Given the description of an element on the screen output the (x, y) to click on. 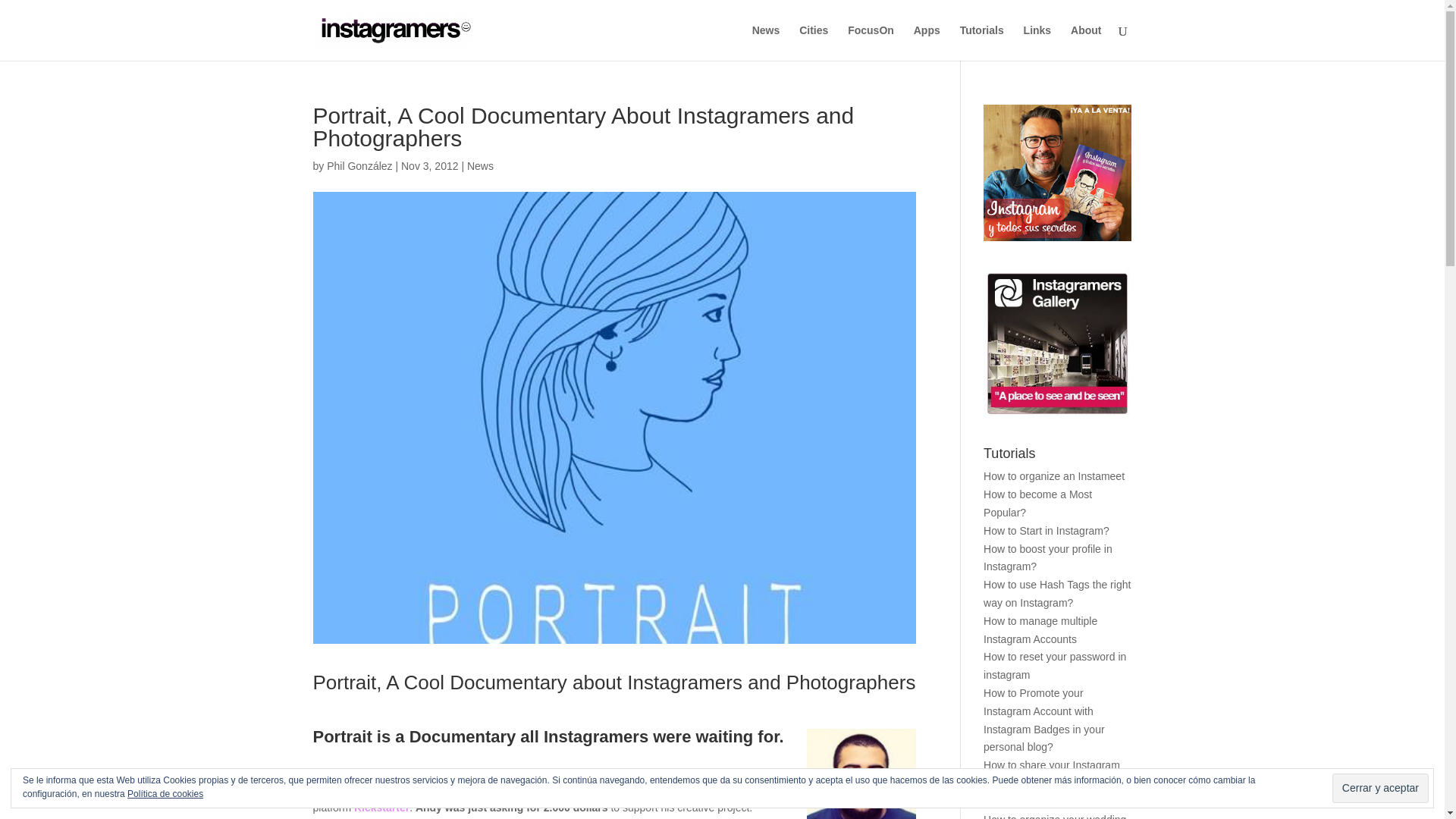
How to share your Instagram Pics on Twitter (1051, 774)
How to organize your wedding on Instagram? (1054, 816)
Portrait Video Project Kickstarter (556, 789)
News (480, 165)
How to organize an Instameet (1054, 476)
FocusOn (870, 42)
kickstarter (381, 807)
How to find love in Instagram? (1054, 801)
How to become a Most Popular? (1038, 503)
andy-newman.medium (860, 773)
How to use Hash Tags the right way on Instagram? (1057, 593)
Tutorials (981, 42)
Cerrar y aceptar (1380, 788)
How to Start in Instagram? (1046, 530)
